Given the description of an element on the screen output the (x, y) to click on. 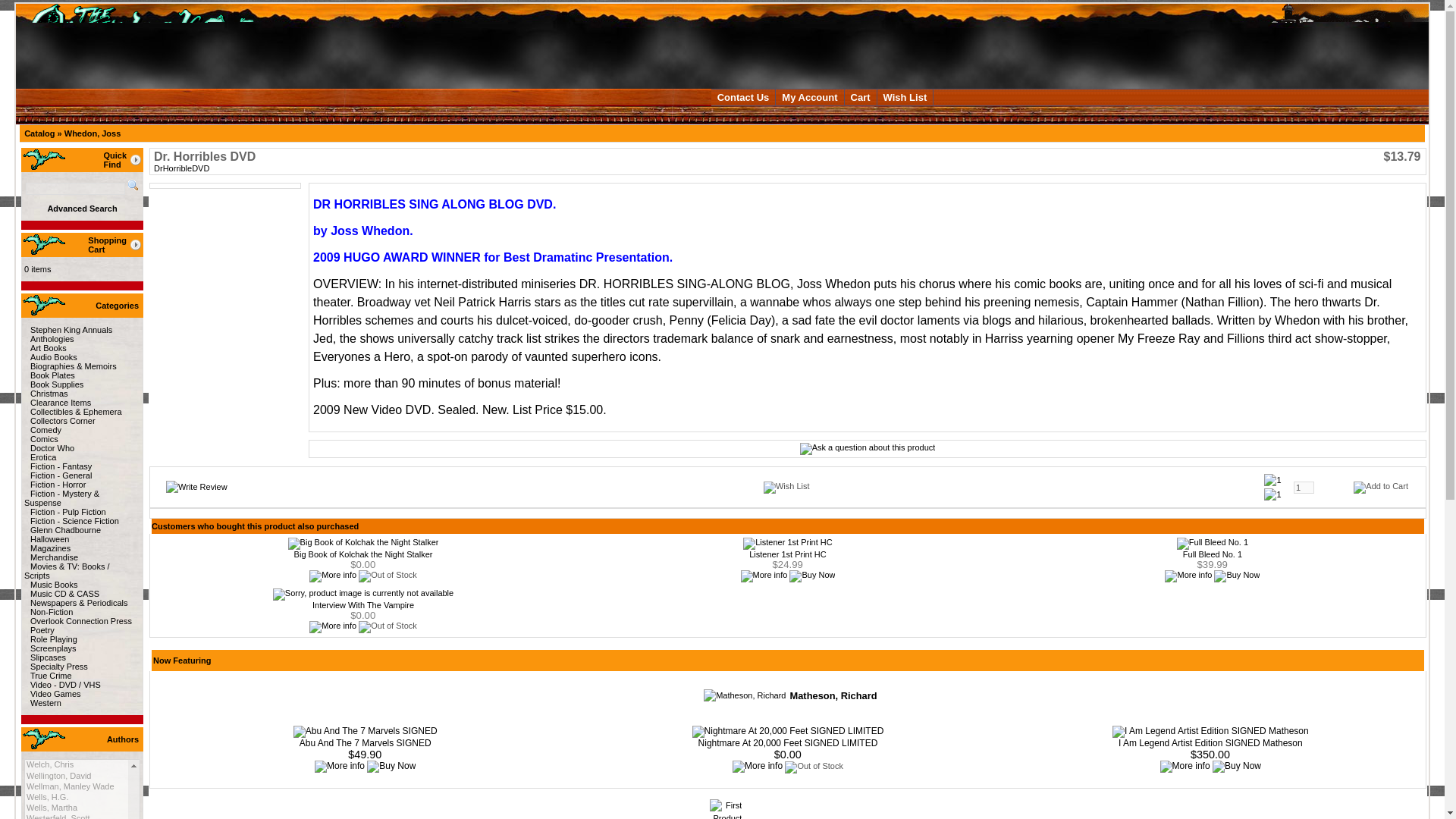
 Full Bleed No. 1  (1211, 543)
 Out of Stock  (387, 576)
Wish List (905, 97)
Art Books (45, 347)
Comedy (42, 429)
 Buy Now  (811, 576)
Erotica (40, 456)
 The Overlook Connection Press and Bookstore  (157, 46)
Christmas (46, 393)
 Add to Cart  (1380, 486)
Advanced Search (81, 207)
Doctor Who (49, 447)
 More info  (332, 576)
 Listener 1st Print HC  (786, 543)
 Big Book of Kolchak the Night Stalker  (363, 543)
